Given the description of an element on the screen output the (x, y) to click on. 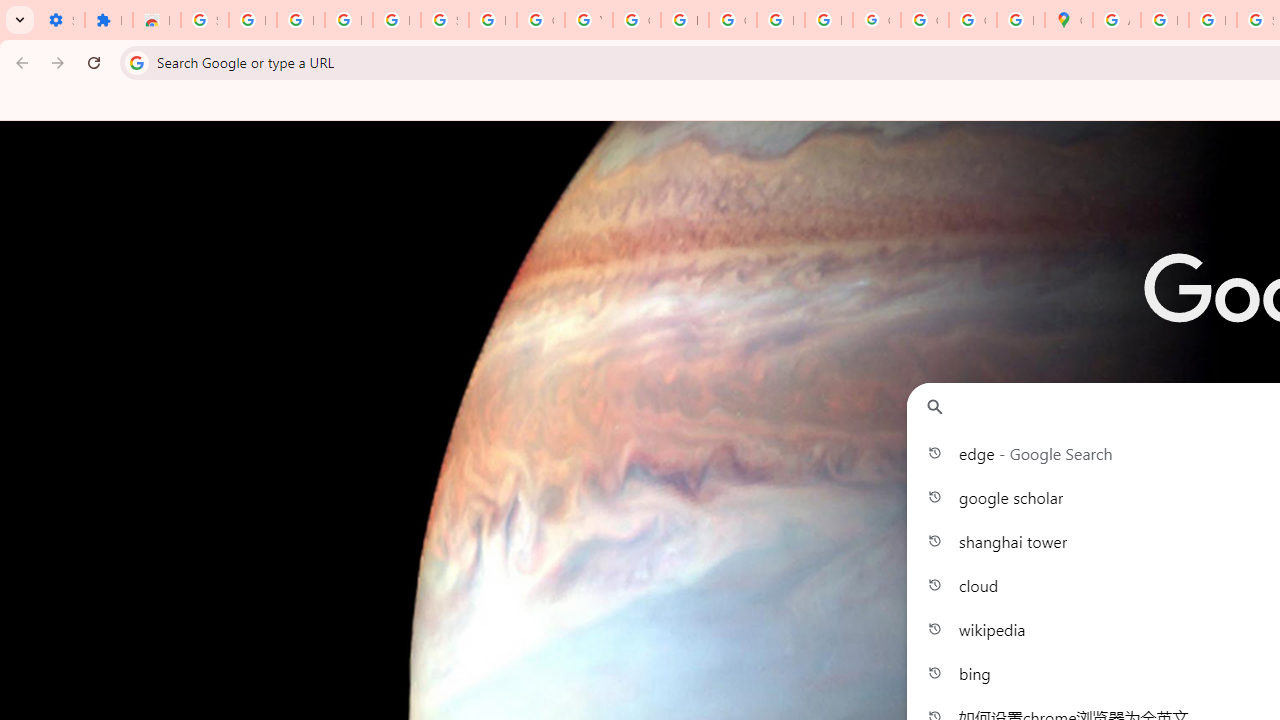
Sign in - Google Accounts (204, 20)
Sign in - Google Accounts (444, 20)
Extensions (108, 20)
Delete photos & videos - Computer - Google Photos Help (300, 20)
Reviews: Helix Fruit Jump Arcade Game (156, 20)
Search icon (136, 62)
